Given the description of an element on the screen output the (x, y) to click on. 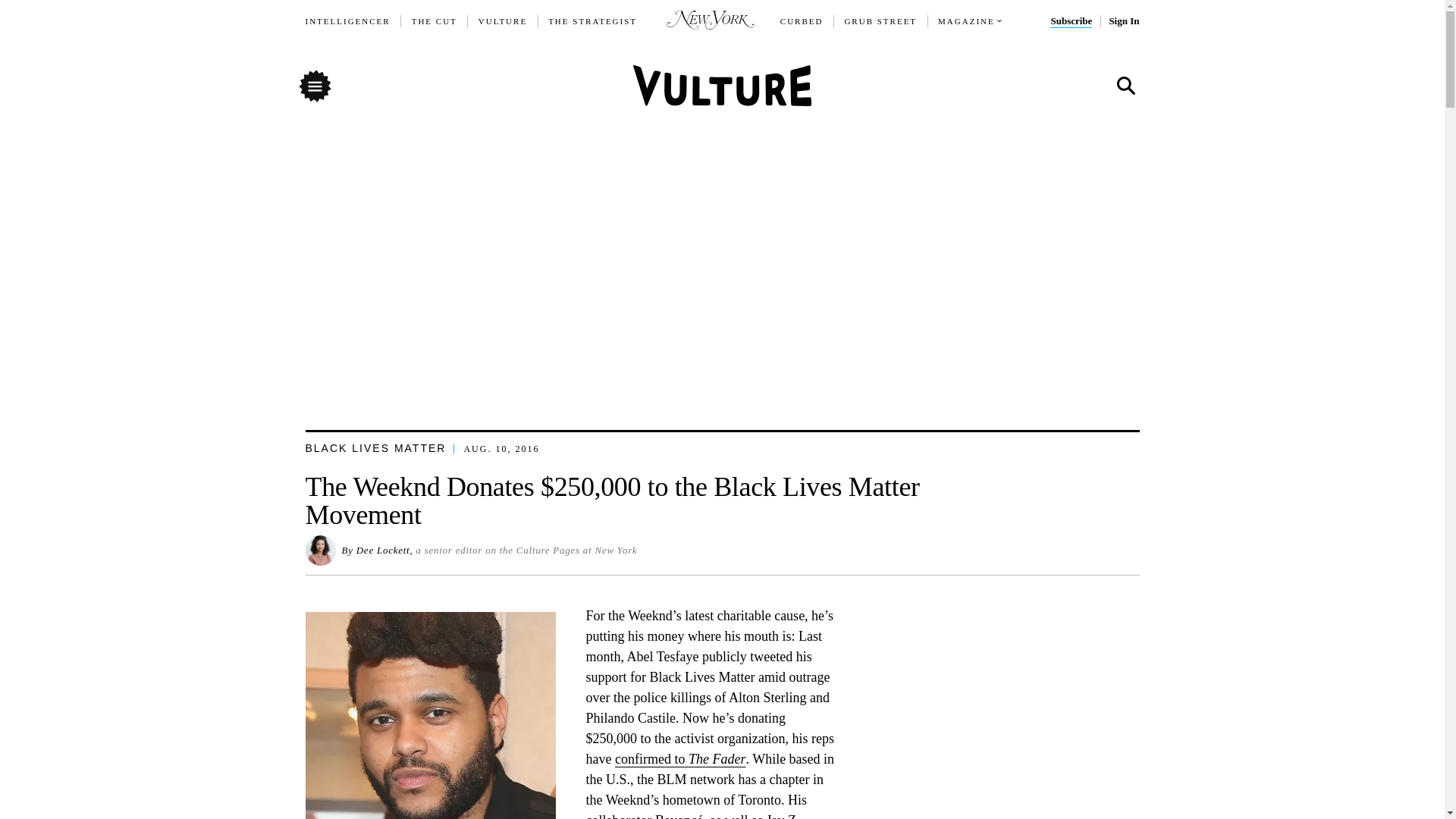
MAGAZINE (965, 21)
CURBED (802, 21)
Menu (314, 84)
Sign In (1123, 21)
THE STRATEGIST (592, 21)
THE CUT (434, 21)
INTELLIGENCER (347, 21)
Subscribe (1070, 21)
GRUB STREET (880, 21)
Search (1124, 86)
